Given the description of an element on the screen output the (x, y) to click on. 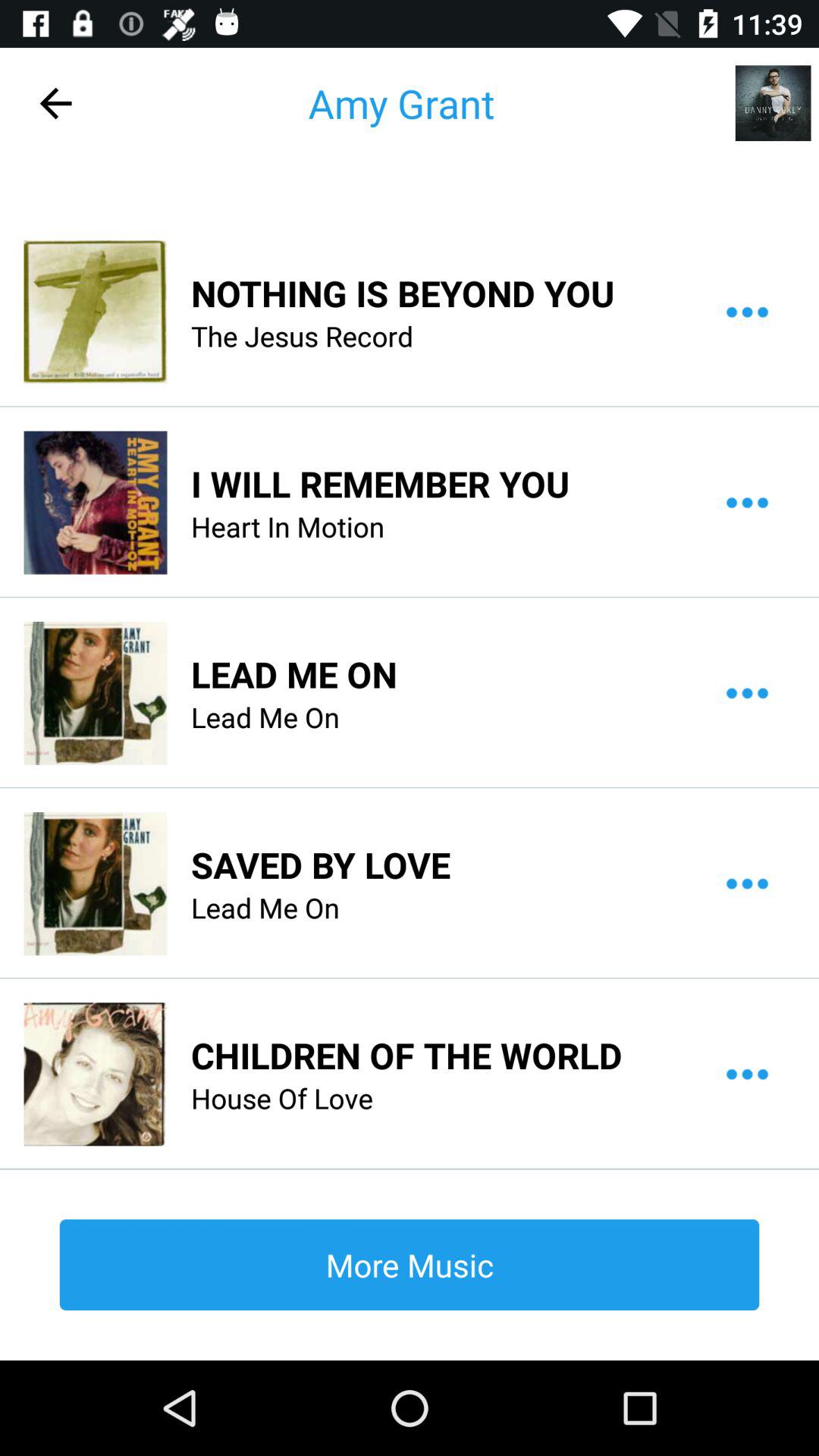
select item next to saved by love item (95, 883)
